Given the description of an element on the screen output the (x, y) to click on. 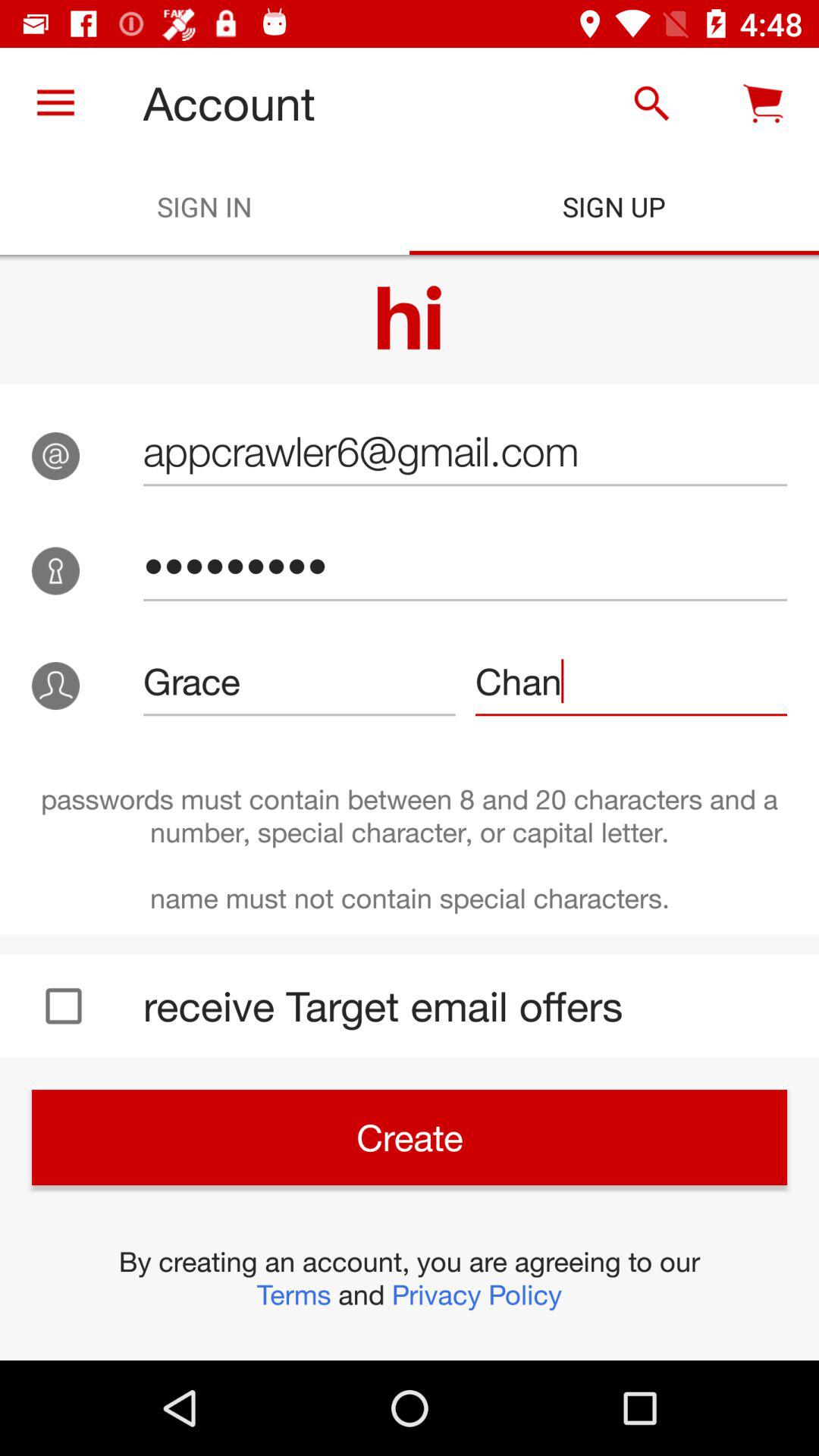
flip to grace icon (299, 681)
